Given the description of an element on the screen output the (x, y) to click on. 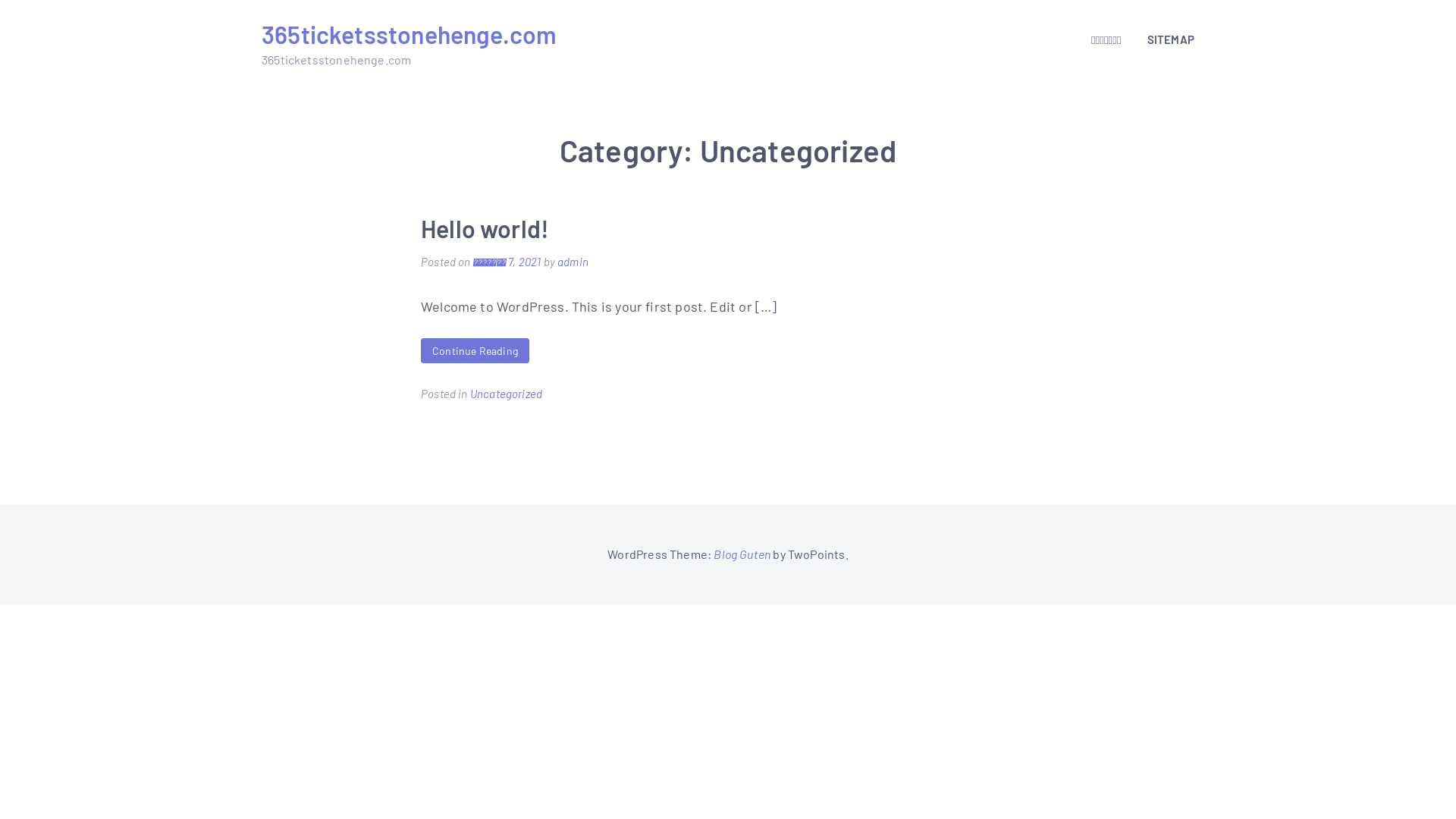
Blog Guten Element type: text (741, 553)
Continue Reading Element type: text (474, 350)
365ticketsstonehenge.com Element type: text (408, 33)
admin Element type: text (572, 261)
Uncategorized Element type: text (506, 393)
Hello world! Element type: text (484, 227)
SITEMAP Element type: text (1164, 38)
